Given the description of an element on the screen output the (x, y) to click on. 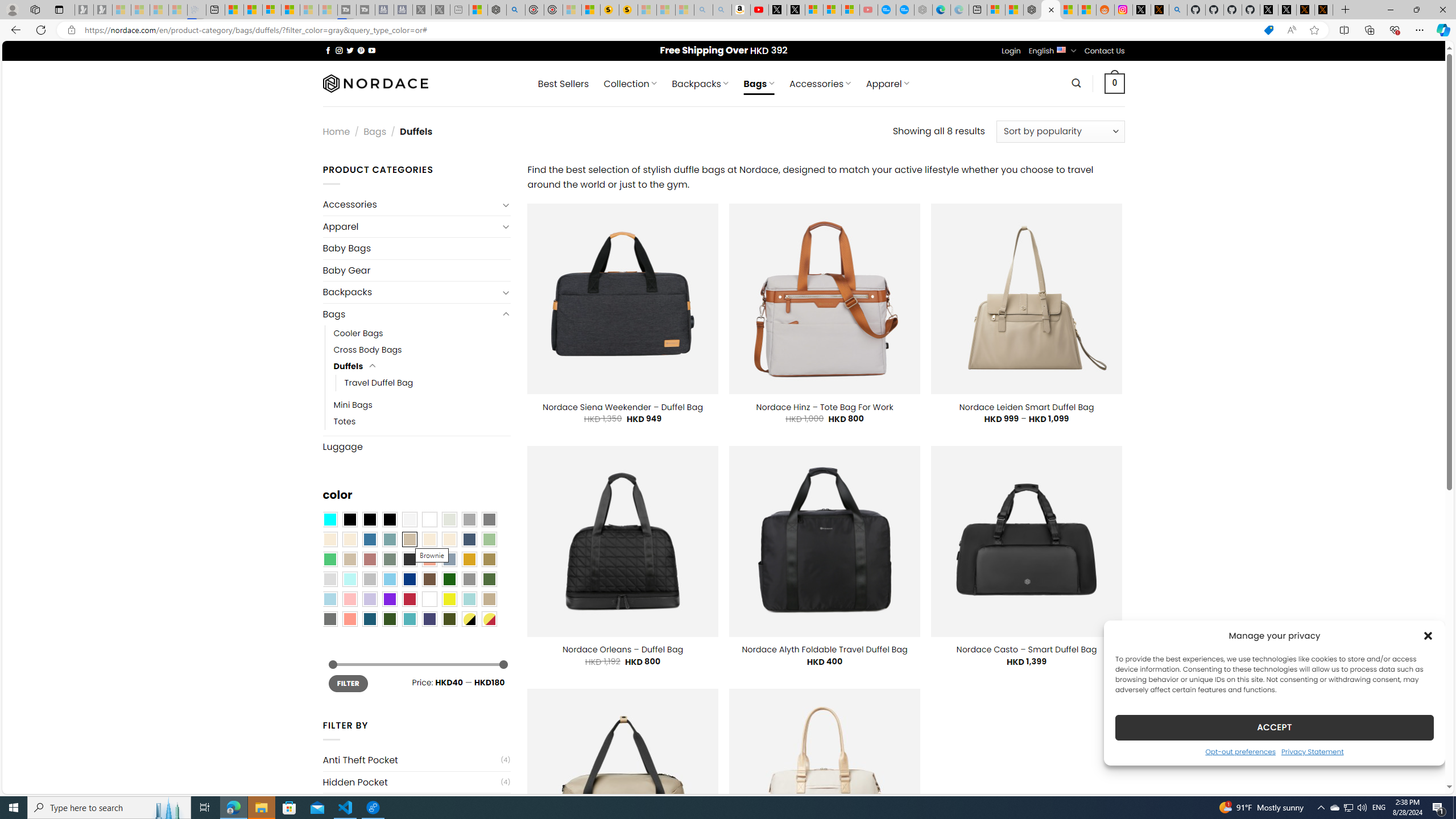
Light Taupe (349, 559)
Gloom - YouTube - Sleeping (868, 9)
Home (335, 131)
Anti Theft Pocket (410, 760)
GitHub (@github) / X (1287, 9)
Baby Bags (416, 248)
Caramel (429, 539)
Forest (389, 618)
Shop order (1060, 131)
Contact Us (1104, 50)
Cross Body Bags (422, 349)
